Given the description of an element on the screen output the (x, y) to click on. 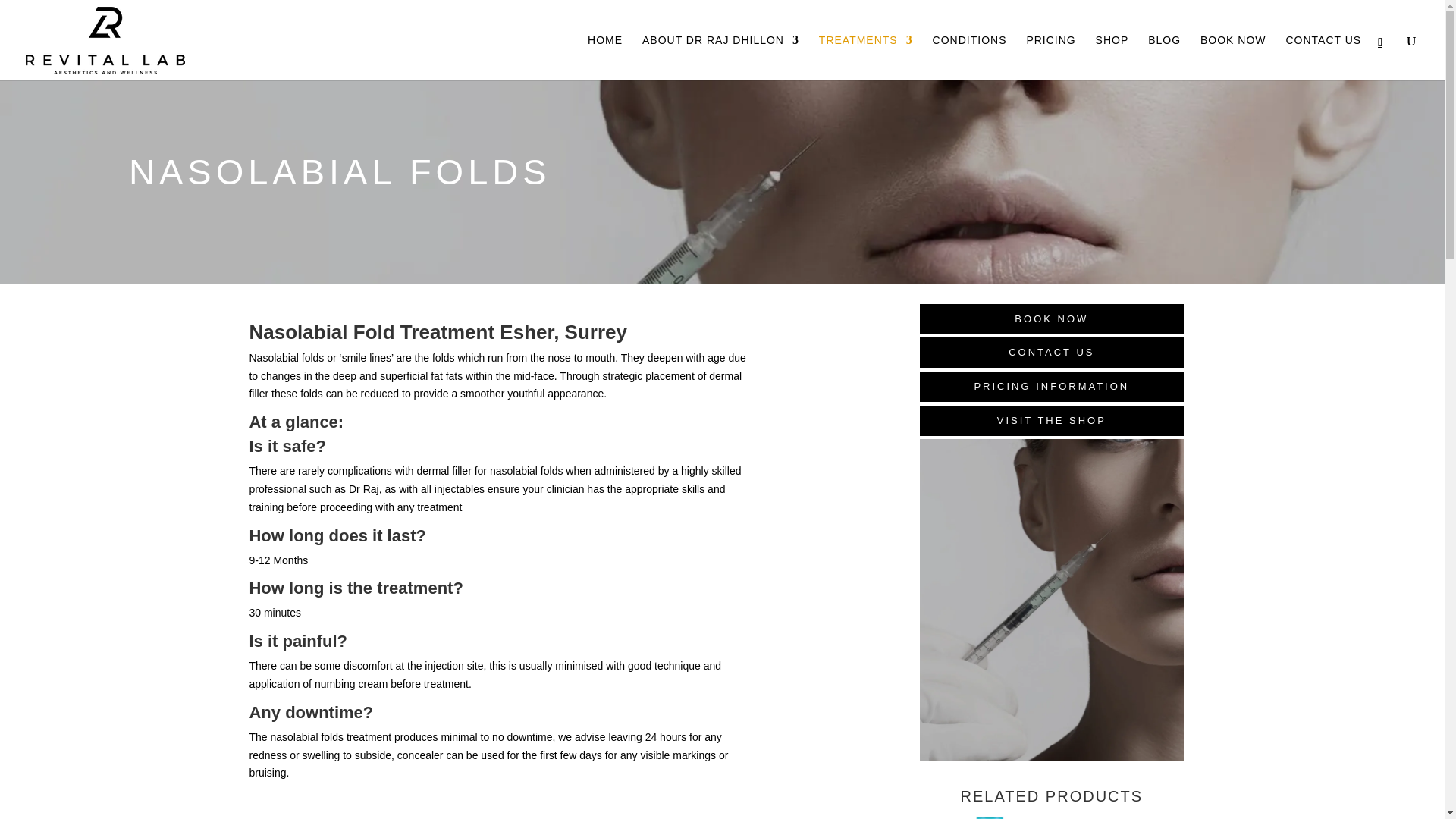
CONTACT US (1323, 57)
CONDITIONS (970, 57)
VISIT THE SHOP (1051, 420)
PRICING (1050, 57)
PRICING INFORMATION (1051, 386)
ABOUT DR RAJ DHILLON (720, 57)
TREATMENTS (865, 57)
CONTACT US (1051, 352)
BOOK NOW (1232, 57)
BOOK NOW (1051, 318)
